Given the description of an element on the screen output the (x, y) to click on. 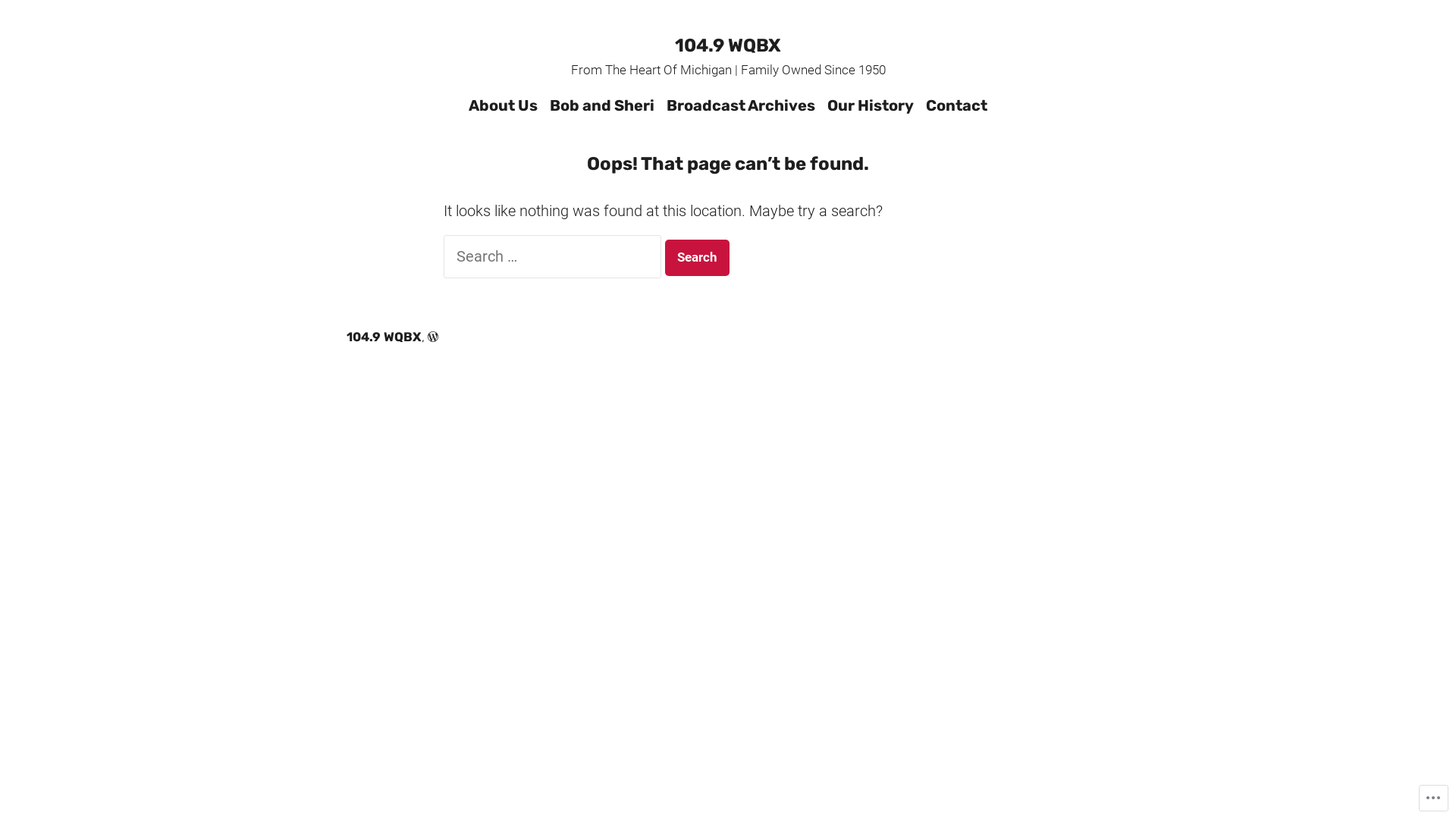
Broadcast Archives Element type: text (740, 104)
Search Element type: text (697, 257)
104.9 WQBX Element type: text (727, 45)
104.9 WQBX Element type: text (383, 336)
Bob and Sheri Element type: text (601, 104)
About Us Element type: text (505, 104)
Contact Element type: text (953, 104)
Create a website or blog at WordPress.com Element type: hover (432, 336)
Our History Element type: text (870, 104)
